Given the description of an element on the screen output the (x, y) to click on. 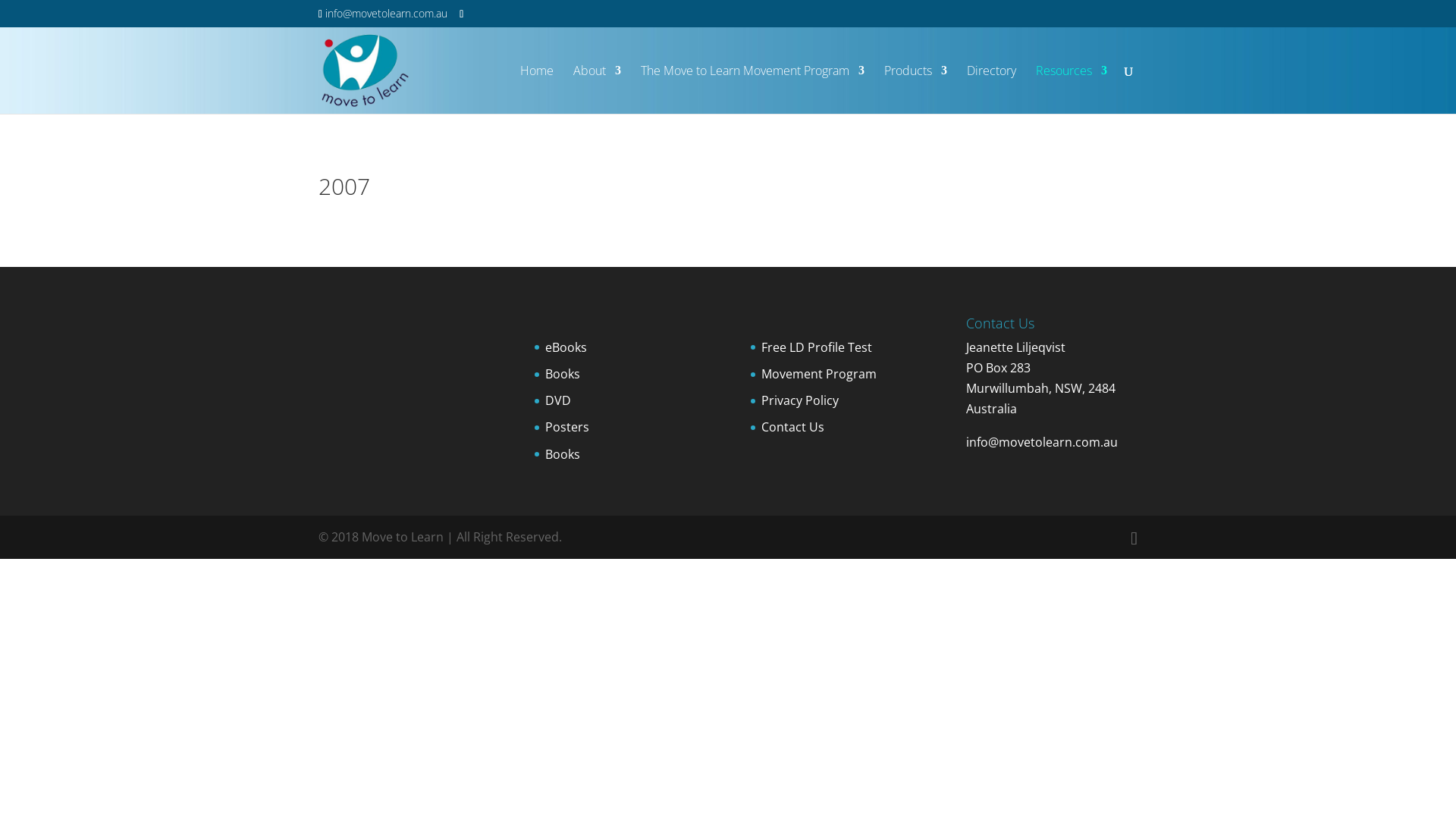
DVD Element type: text (558, 400)
Home Element type: text (536, 89)
Directory Element type: text (991, 89)
Resources Element type: text (1071, 89)
info@movetolearn.com.au Element type: text (1041, 441)
Products Element type: text (915, 89)
About Element type: text (597, 89)
eBooks Element type: text (565, 346)
info@movetolearn.com.au Element type: text (382, 13)
The Move to Learn Movement Program Element type: text (752, 89)
Books Element type: text (562, 453)
Contact Us Element type: text (792, 426)
Books Element type: text (562, 373)
Privacy Policy Element type: text (799, 400)
Movement Program Element type: text (818, 373)
Posters Element type: text (567, 426)
Free LD Profile Test Element type: text (816, 346)
